Given the description of an element on the screen output the (x, y) to click on. 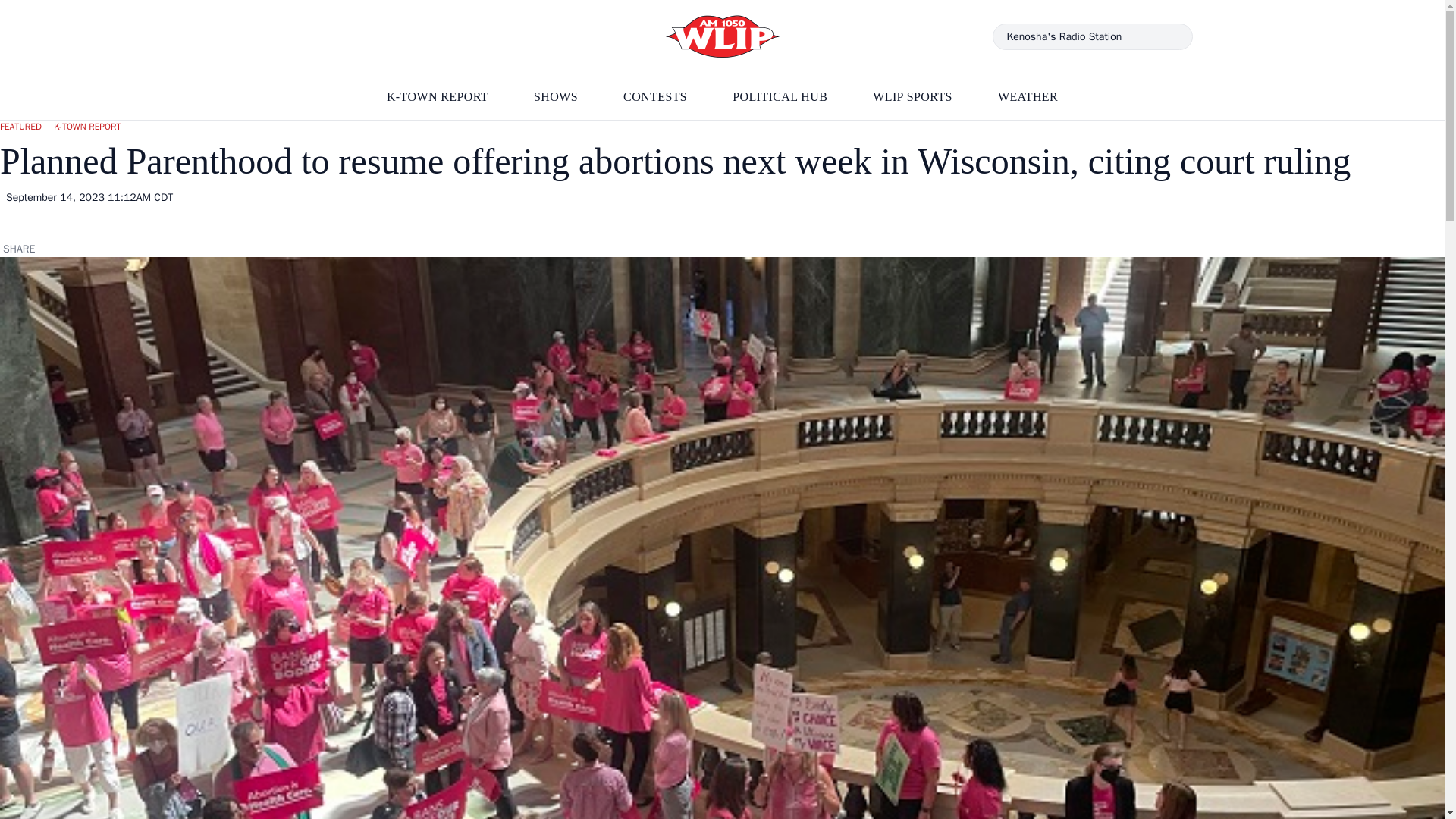
SHOWS (556, 96)
POLITICAL HUB (779, 96)
WLIP SPORTS (912, 96)
K-TOWN REPORT (437, 96)
CONTESTS (655, 96)
AM 1050 WLIP (721, 36)
Kenosha's Radio Station (1092, 37)
WEATHER (1027, 96)
